Given the description of an element on the screen output the (x, y) to click on. 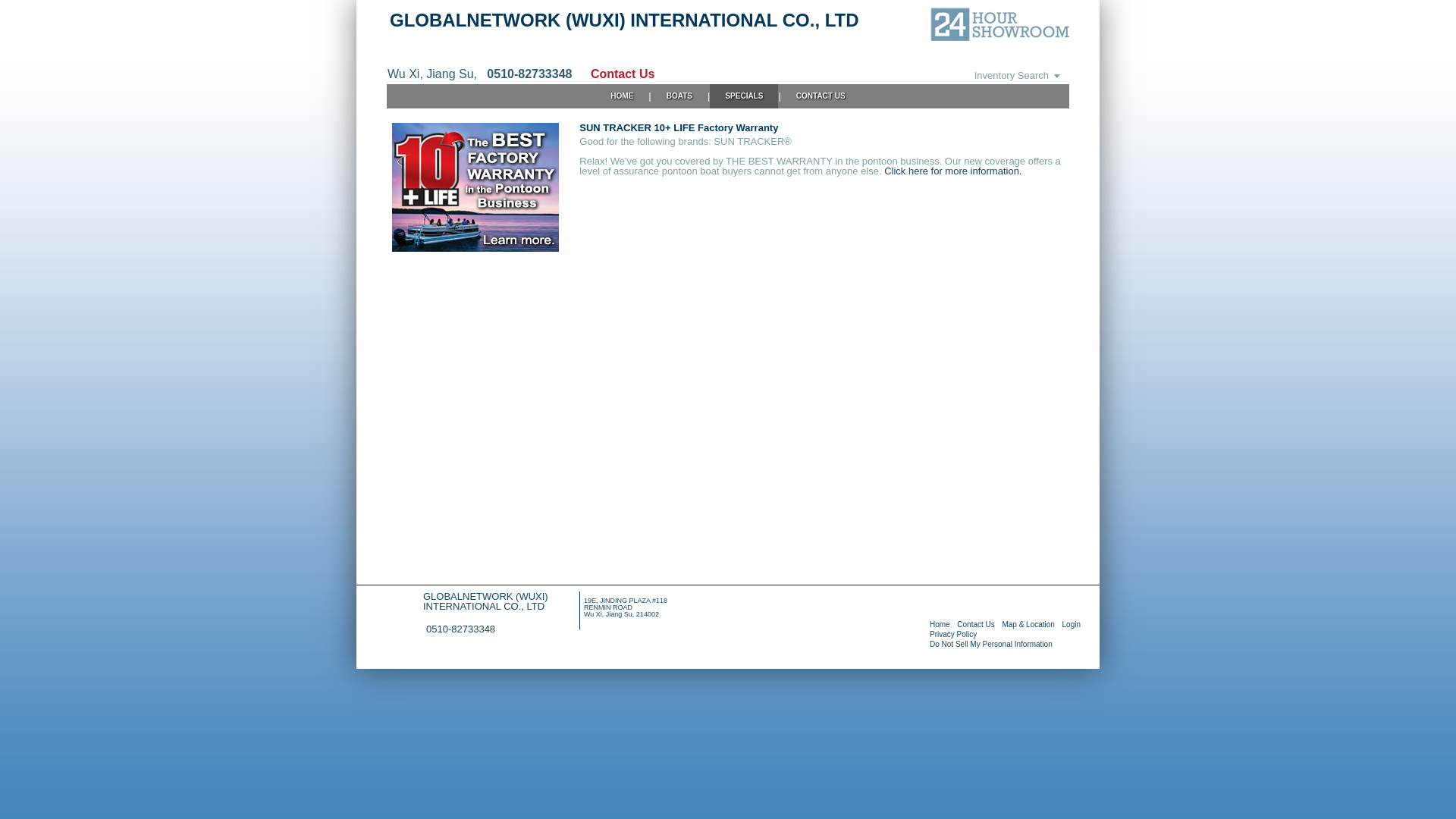
Privacy Policy Element type: text (953, 633)
BOATS Element type: text (679, 96)
Contact Us Element type: text (614, 73)
Click here for more information. Element type: text (952, 170)
Do Not Sell My Personal Information Element type: text (990, 643)
Map & Location Element type: text (1028, 624)
GLOBALNETWORK (WUXI) INTERNATIONAL CO., LTD Element type: text (624, 19)
CONTACT US Element type: text (820, 96)
HOME Element type: text (621, 96)
SPECIALS Element type: text (743, 96)
Login Element type: text (1071, 624)
SUN TRACKER 10+ LIFE Factory Warranty Element type: hover (475, 248)
Contact Us Element type: text (975, 624)
Home Element type: text (939, 624)
